Given the description of an element on the screen output the (x, y) to click on. 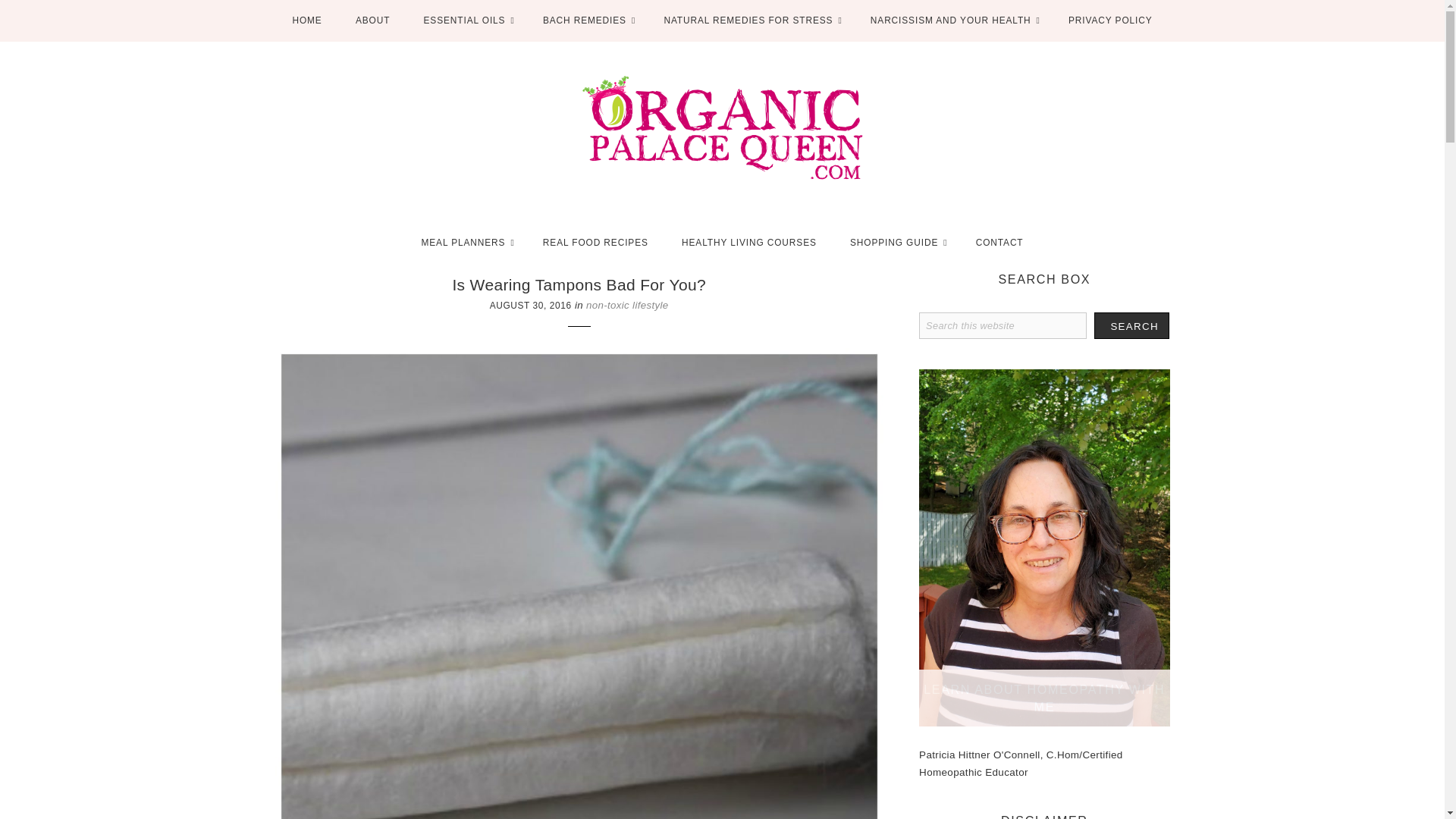
Search (1131, 325)
Search (1131, 325)
